Given the description of an element on the screen output the (x, y) to click on. 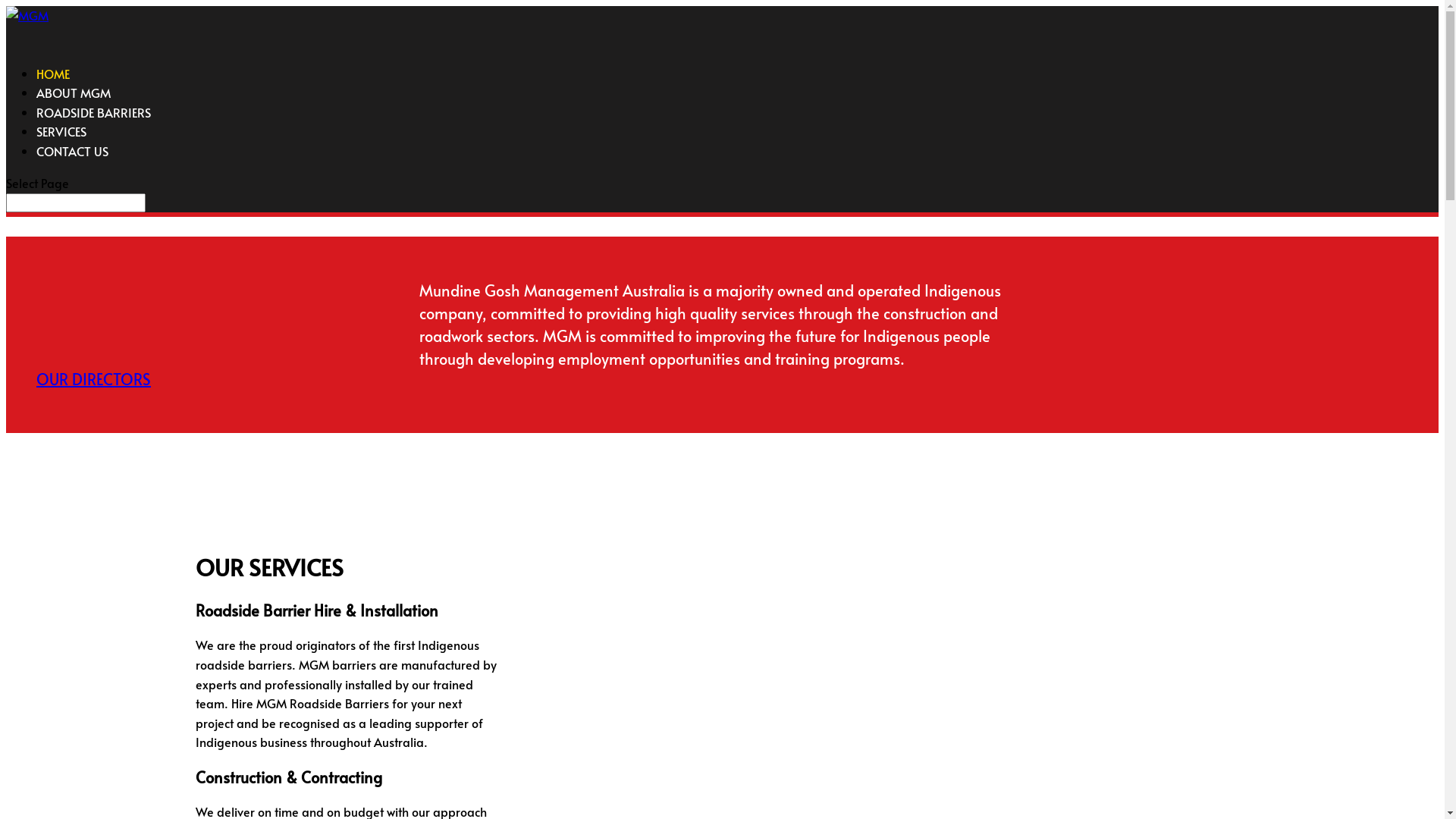
OUR DIRECTORS Element type: text (93, 378)
ROADSIDE BARRIERS Element type: text (93, 125)
Search for: Element type: hover (75, 202)
ABOUT MGM Element type: text (73, 105)
CONTACT US Element type: text (72, 163)
HOME Element type: text (52, 86)
SERVICES Element type: text (61, 144)
